Given the description of an element on the screen output the (x, y) to click on. 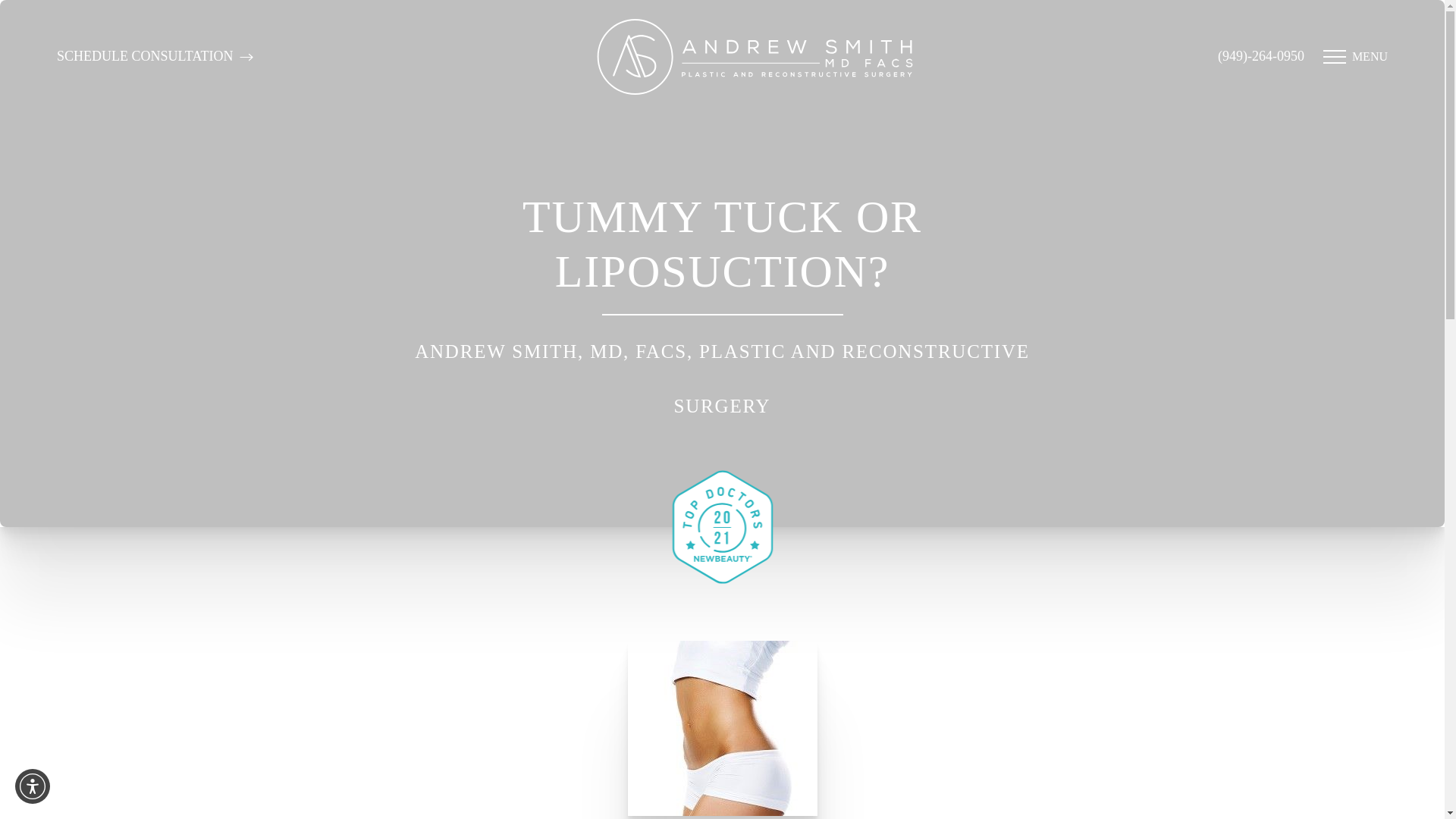
SCHEDULE CONSULTATION (154, 56)
